Given the description of an element on the screen output the (x, y) to click on. 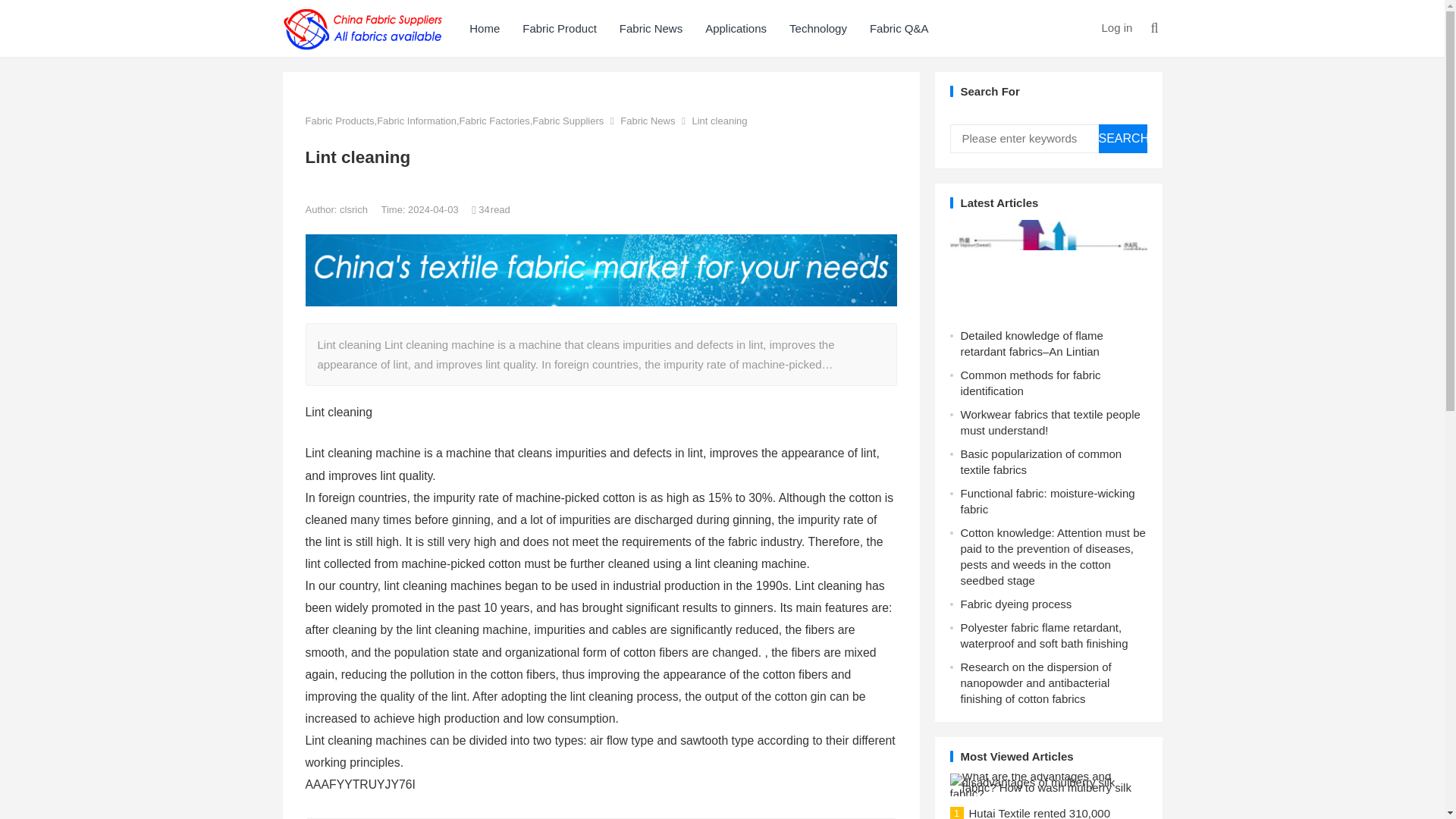
Fabric News (651, 28)
Log in (1116, 27)
Fabric Product (559, 28)
Technology (818, 28)
Home (484, 28)
Applications (735, 28)
